Given the description of an element on the screen output the (x, y) to click on. 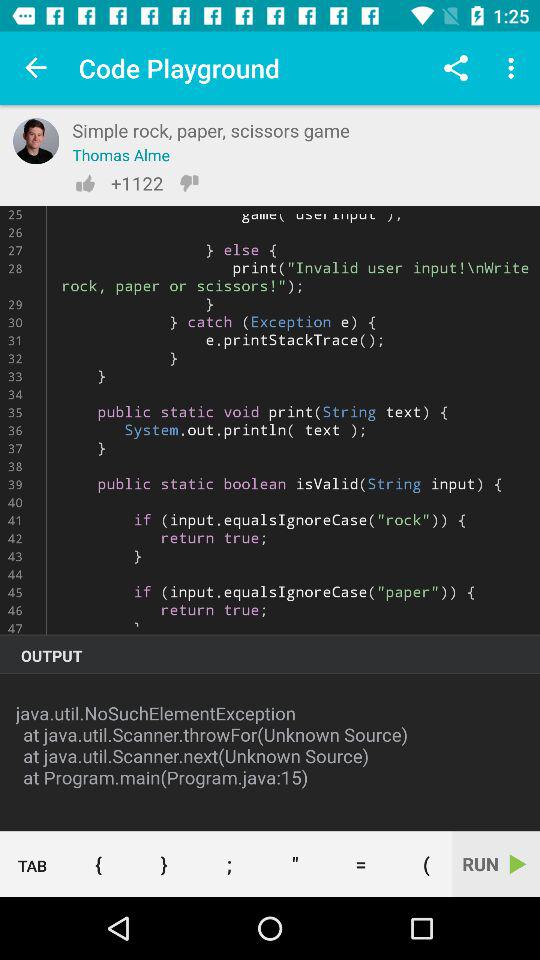
go to dislike (189, 183)
